Given the description of an element on the screen output the (x, y) to click on. 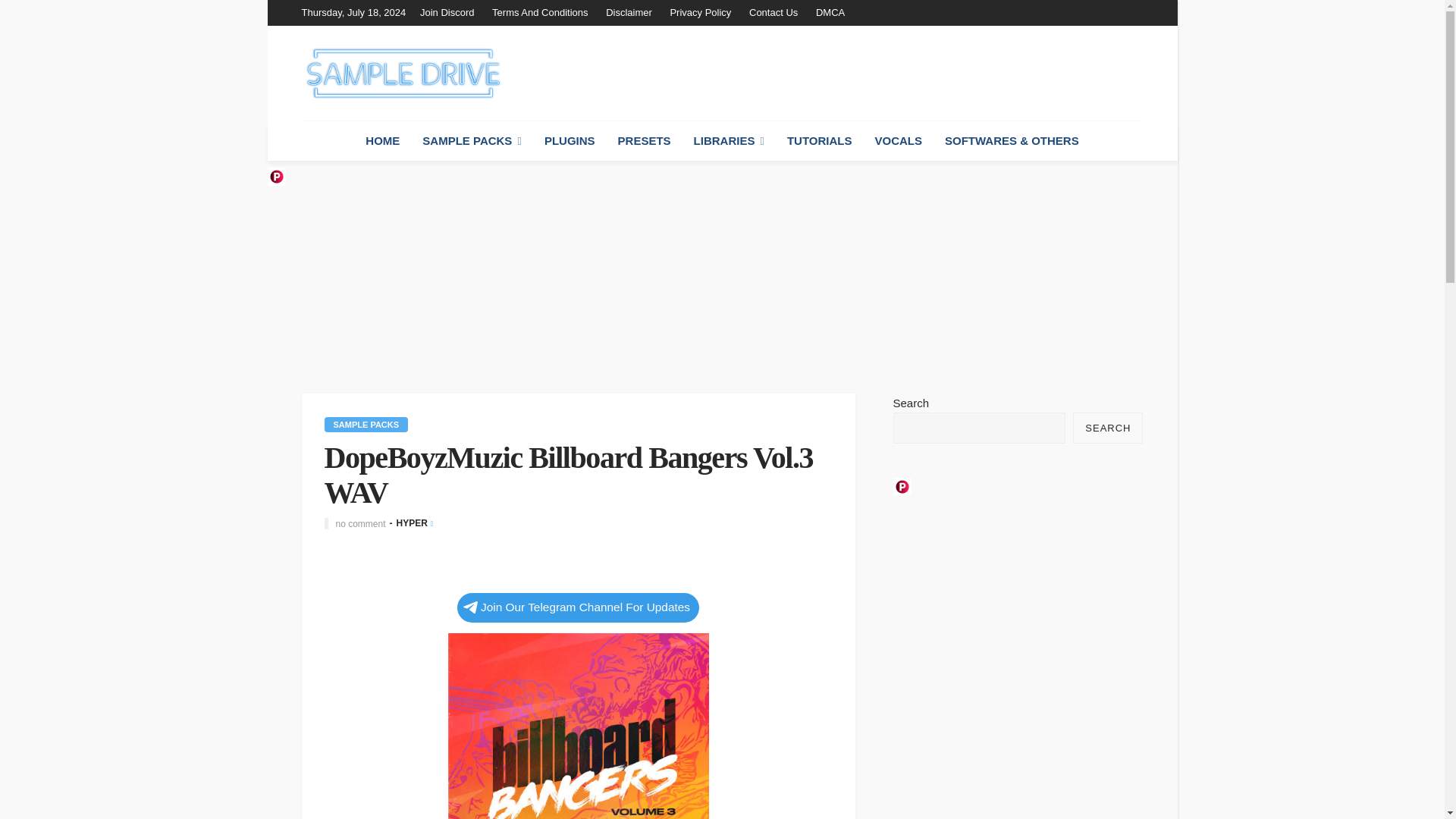
Terms And Conditions (539, 12)
SampleDrive (402, 72)
VOCALS (898, 140)
SAMPLE PACKS (471, 140)
Contact Us (773, 12)
PLUGINS (569, 140)
Join Discord (450, 12)
no comment (359, 523)
DMCA (829, 12)
Sample Packs (366, 424)
SAMPLE PACKS (366, 424)
Disclaimer (628, 12)
DopeBoyzMuzic Billboard Bangers Vol.3 WAV (576, 725)
HYPER (412, 522)
PRESETS (644, 140)
